Given the description of an element on the screen output the (x, y) to click on. 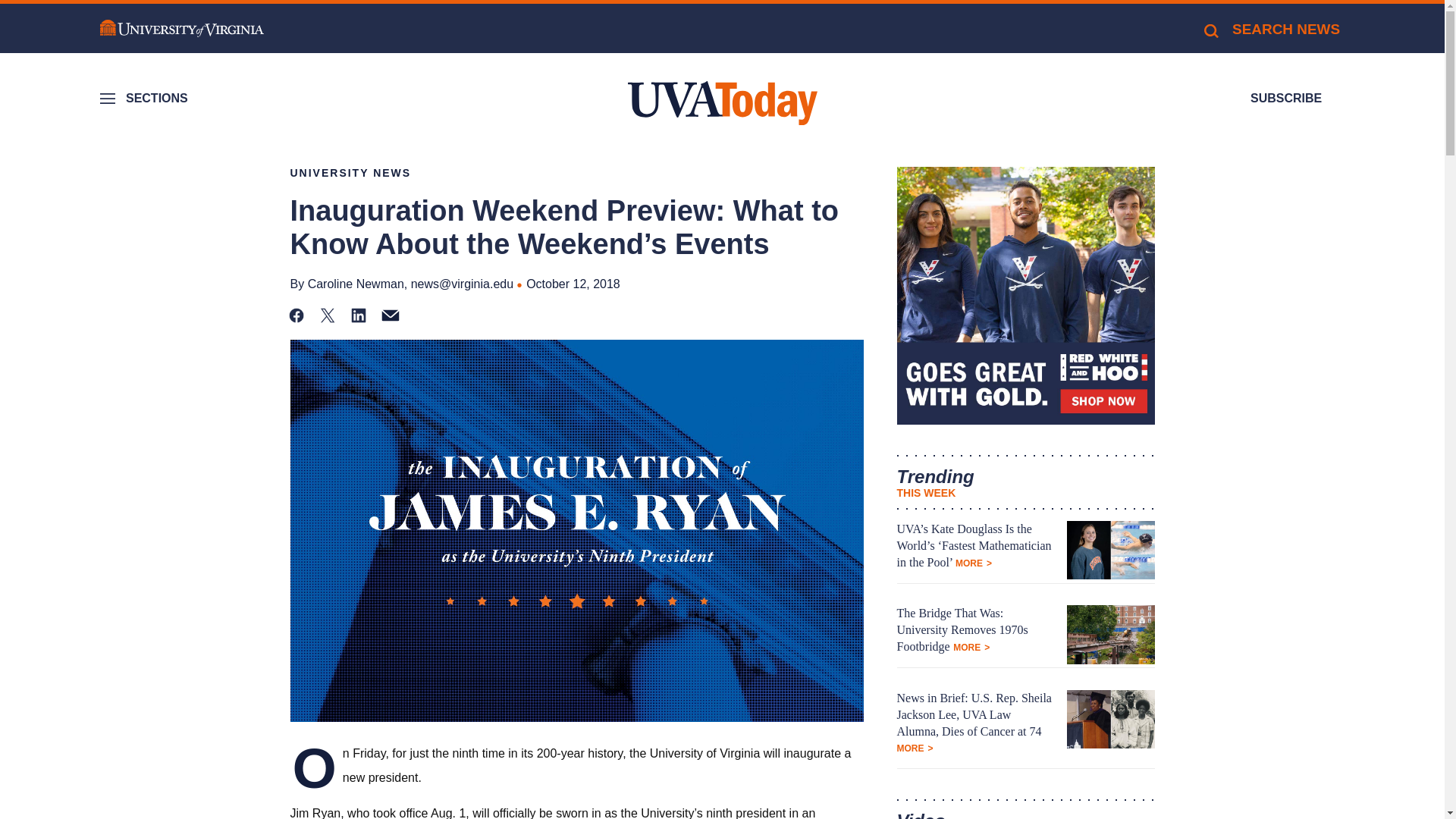
SUBSCRIBE (1286, 98)
Virginia Cavaliers (1025, 296)
Caroline Newman (355, 283)
SECTIONS (145, 98)
SEARCH NEWS (1270, 28)
University of Virginia Logo (181, 28)
Home (721, 103)
